Given the description of an element on the screen output the (x, y) to click on. 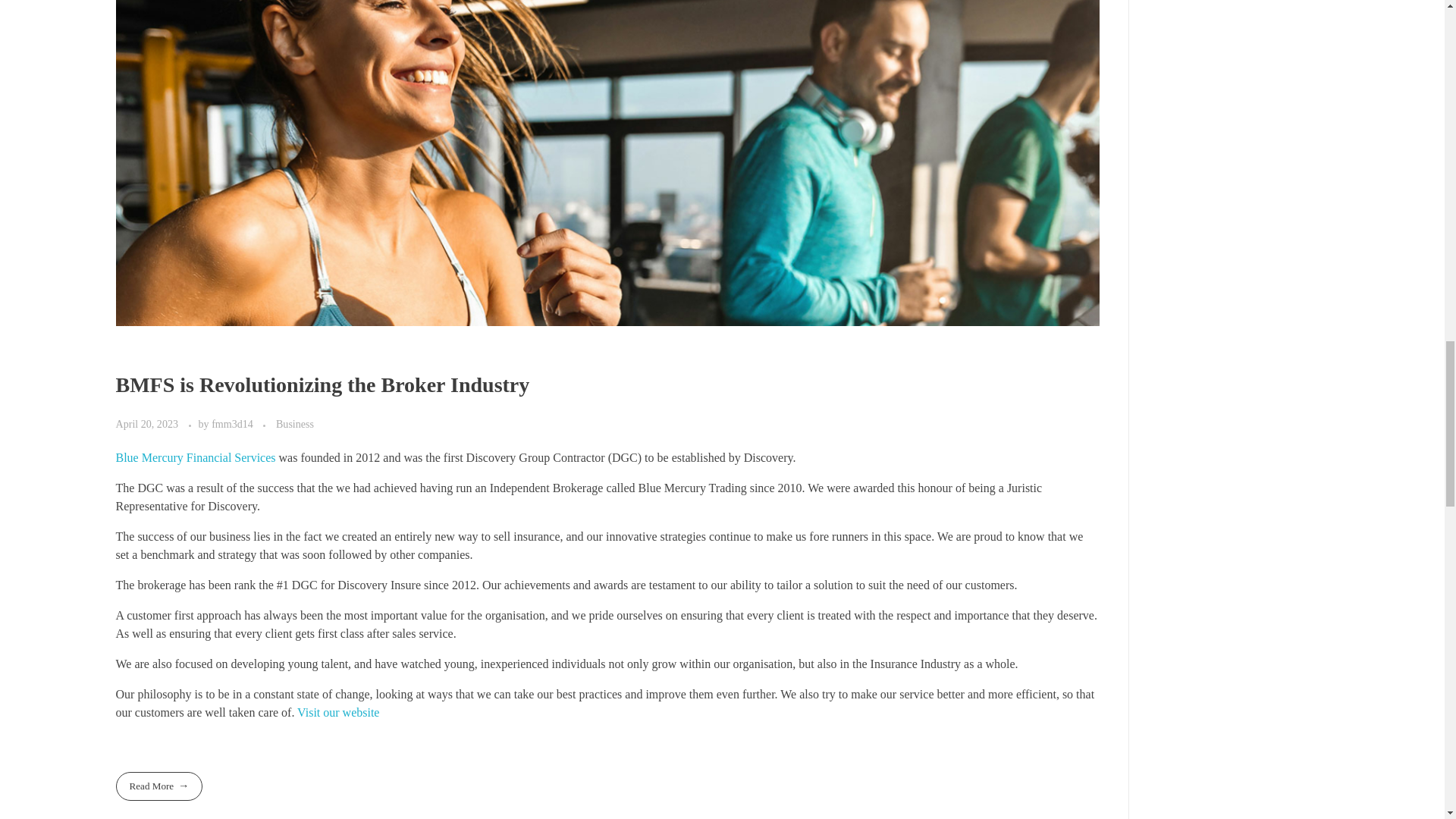
Visit our website (337, 712)
Business (295, 424)
View all posts by fmm3d14 (233, 423)
April 20, 2023 (147, 423)
BMFS is Revolutionizing the Broker Industry (322, 384)
fmm3d14 (233, 423)
Read More (158, 786)
Blue Mercury Financial Services (195, 457)
View all posts in Business (295, 424)
